Given the description of an element on the screen output the (x, y) to click on. 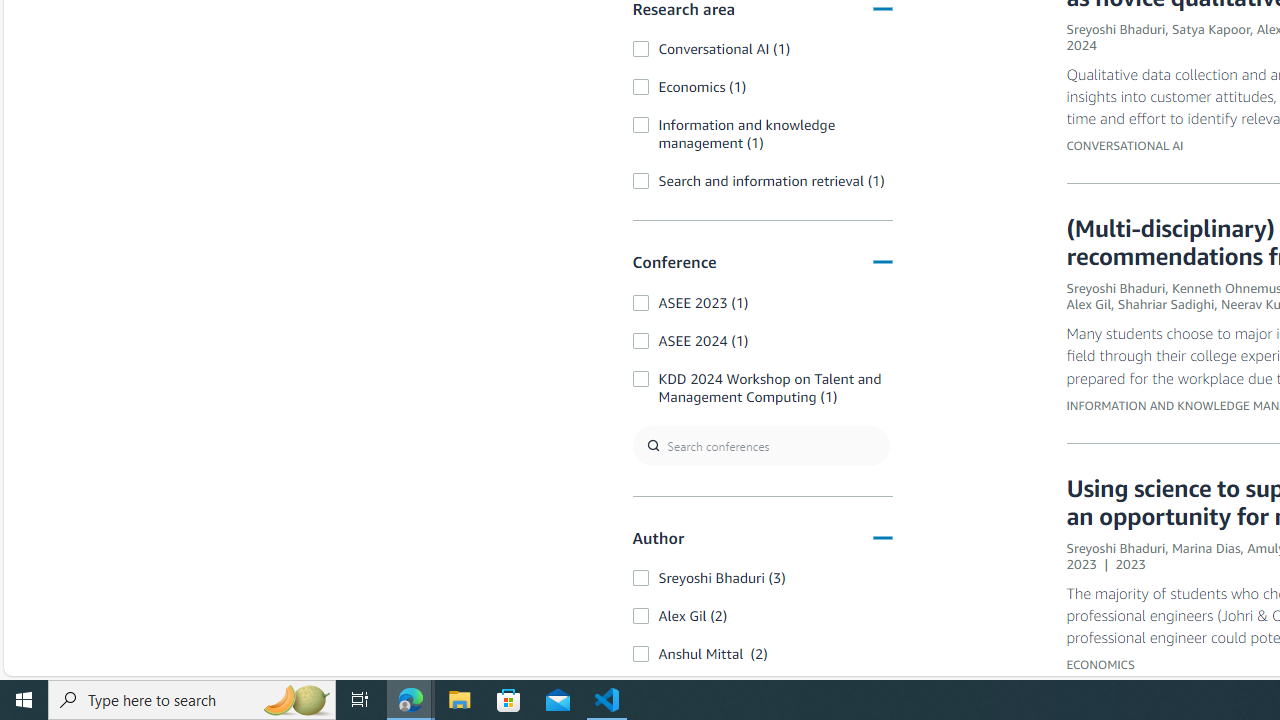
Satya Kapoor (1210, 29)
CONVERSATIONAL AI (1125, 146)
Alex Gil (1089, 304)
ECONOMICS (1100, 663)
Sreyoshi Bhaduri (1116, 547)
